Given the description of an element on the screen output the (x, y) to click on. 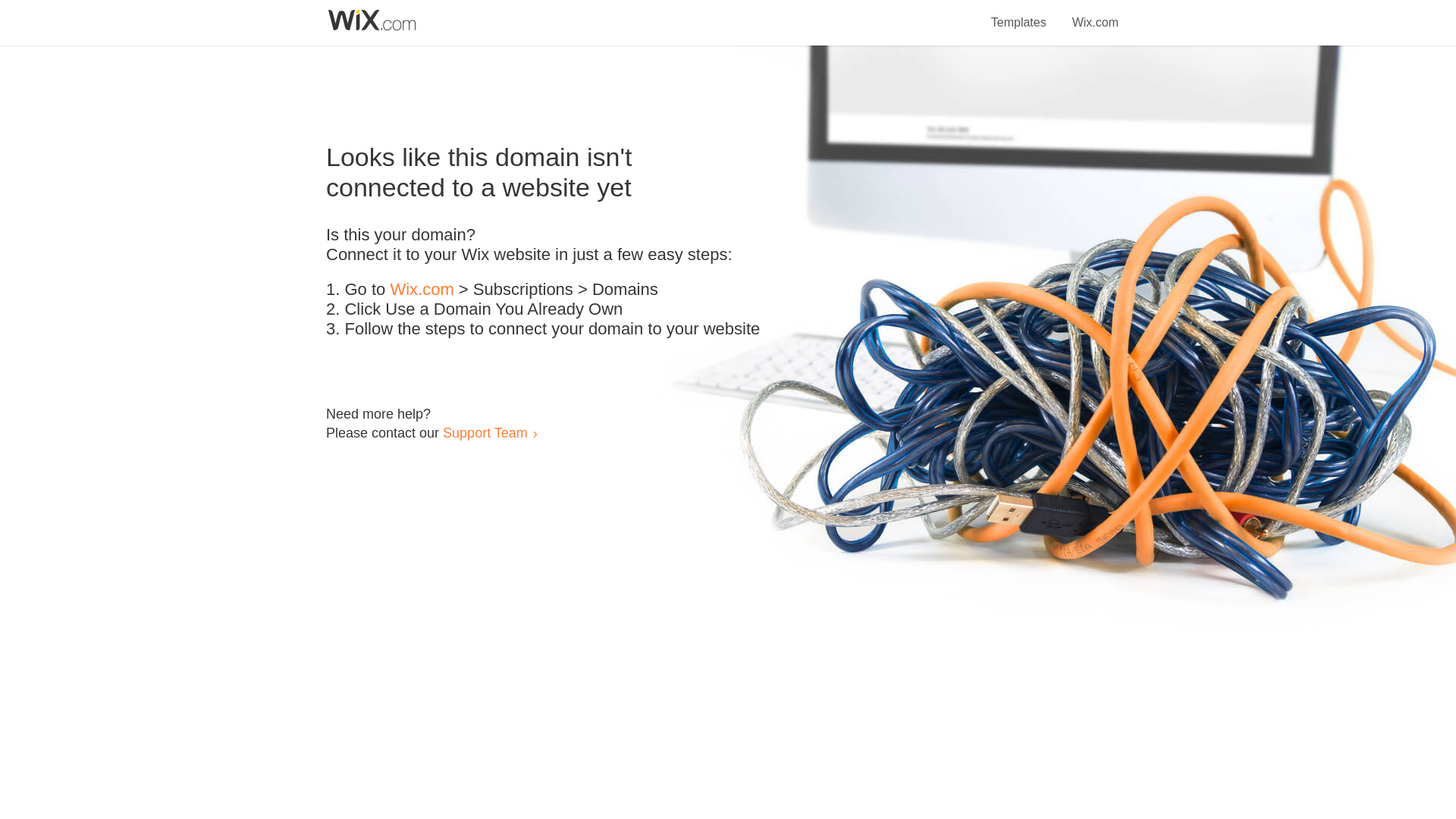
Support Team (484, 432)
Wix.com (421, 289)
Wix.com (1095, 14)
Templates (1018, 14)
